Given the description of an element on the screen output the (x, y) to click on. 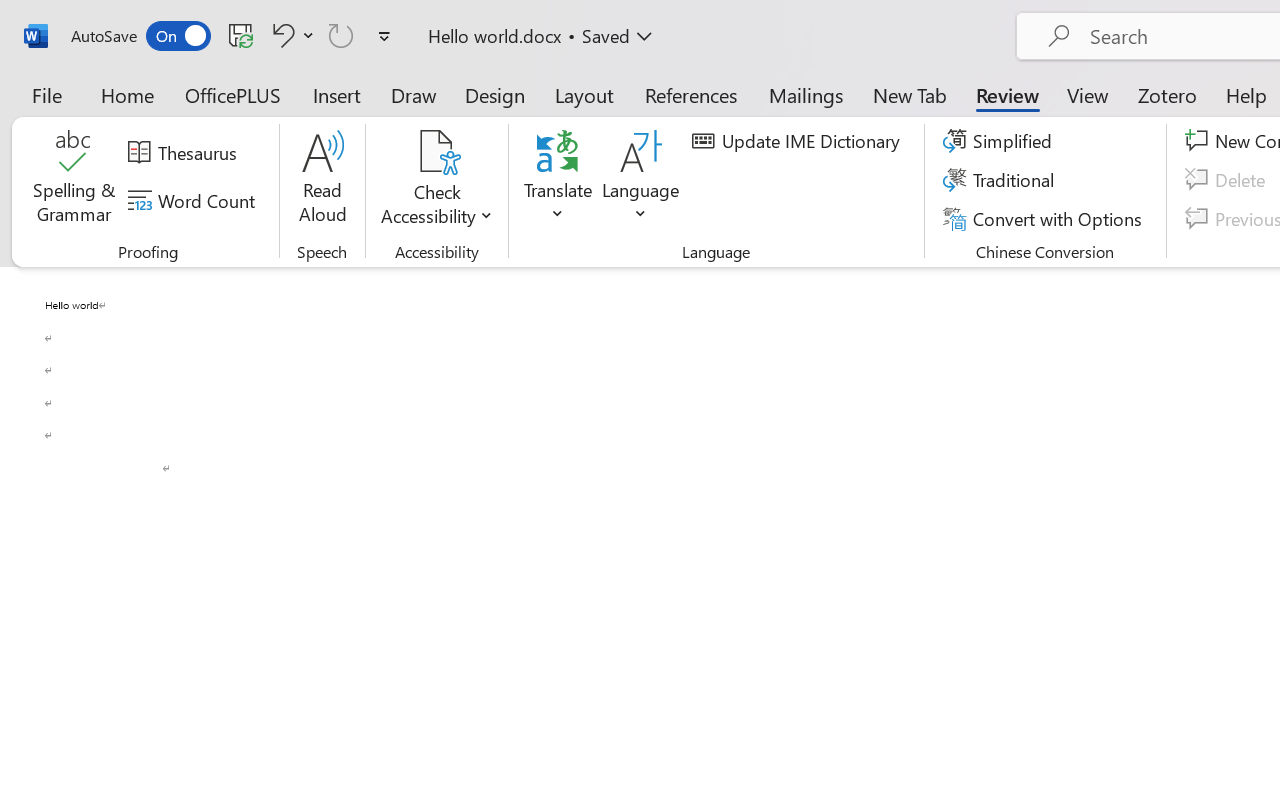
Thesaurus... (185, 153)
Word Count (194, 201)
Customize Quick Access Toolbar (384, 35)
Draw (413, 94)
AutoSave (140, 35)
Delete (1227, 179)
